Given the description of an element on the screen output the (x, y) to click on. 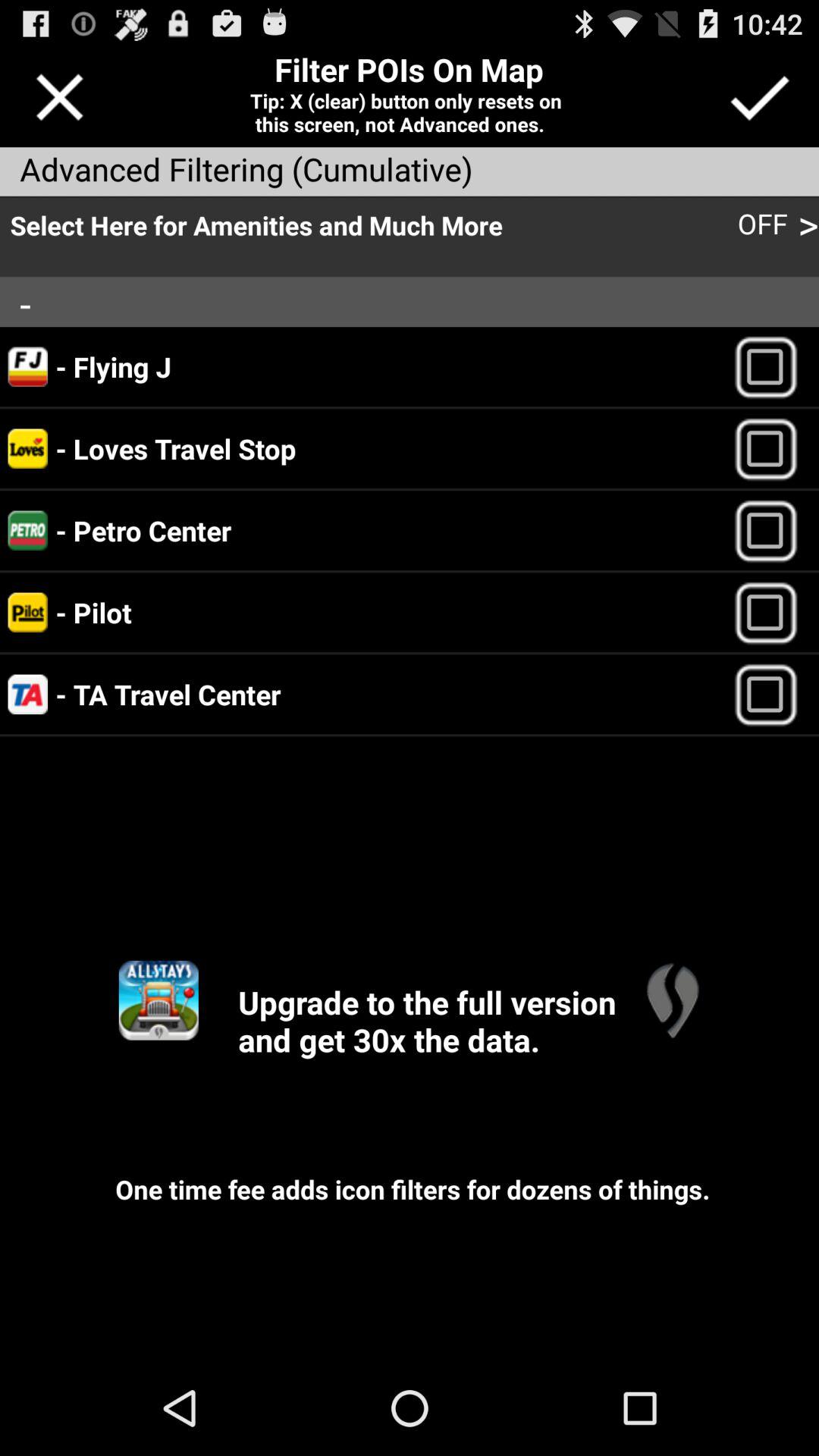
check box on right (772, 612)
